Given the description of an element on the screen output the (x, y) to click on. 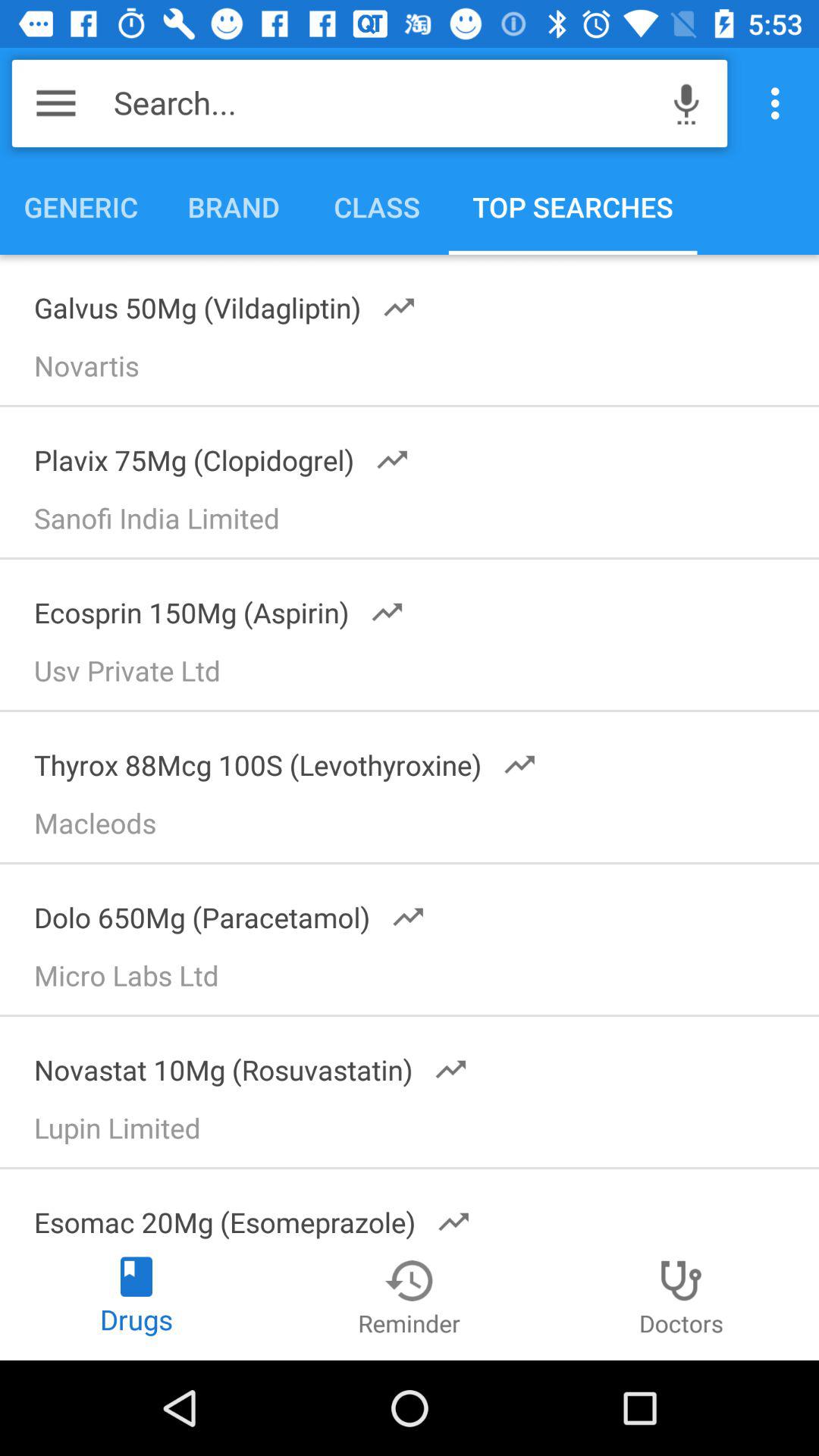
select item above the ecosprin 150mg (aspirin) (416, 523)
